Given the description of an element on the screen output the (x, y) to click on. 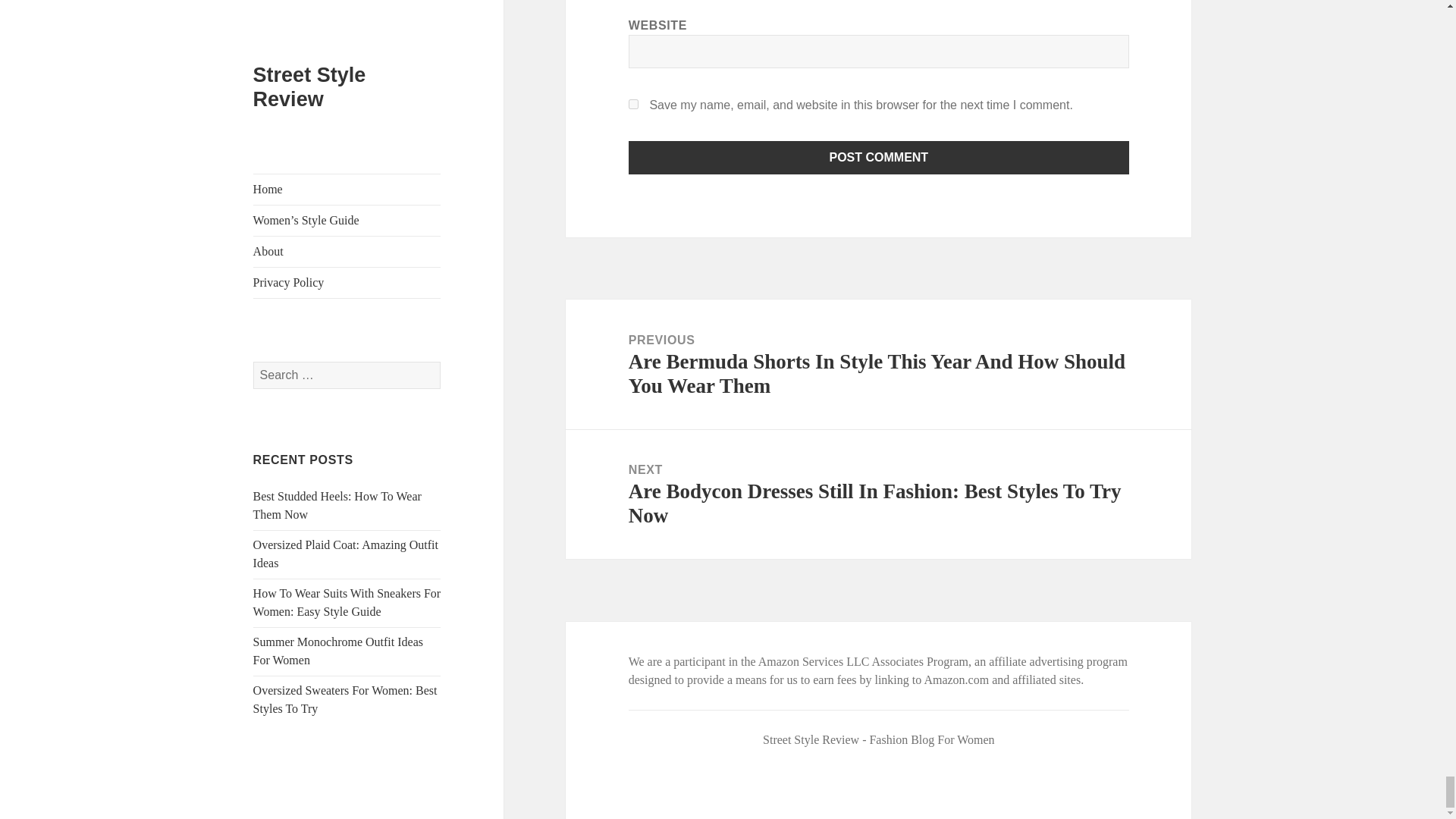
yes (633, 103)
Post Comment (878, 157)
